Given the description of an element on the screen output the (x, y) to click on. 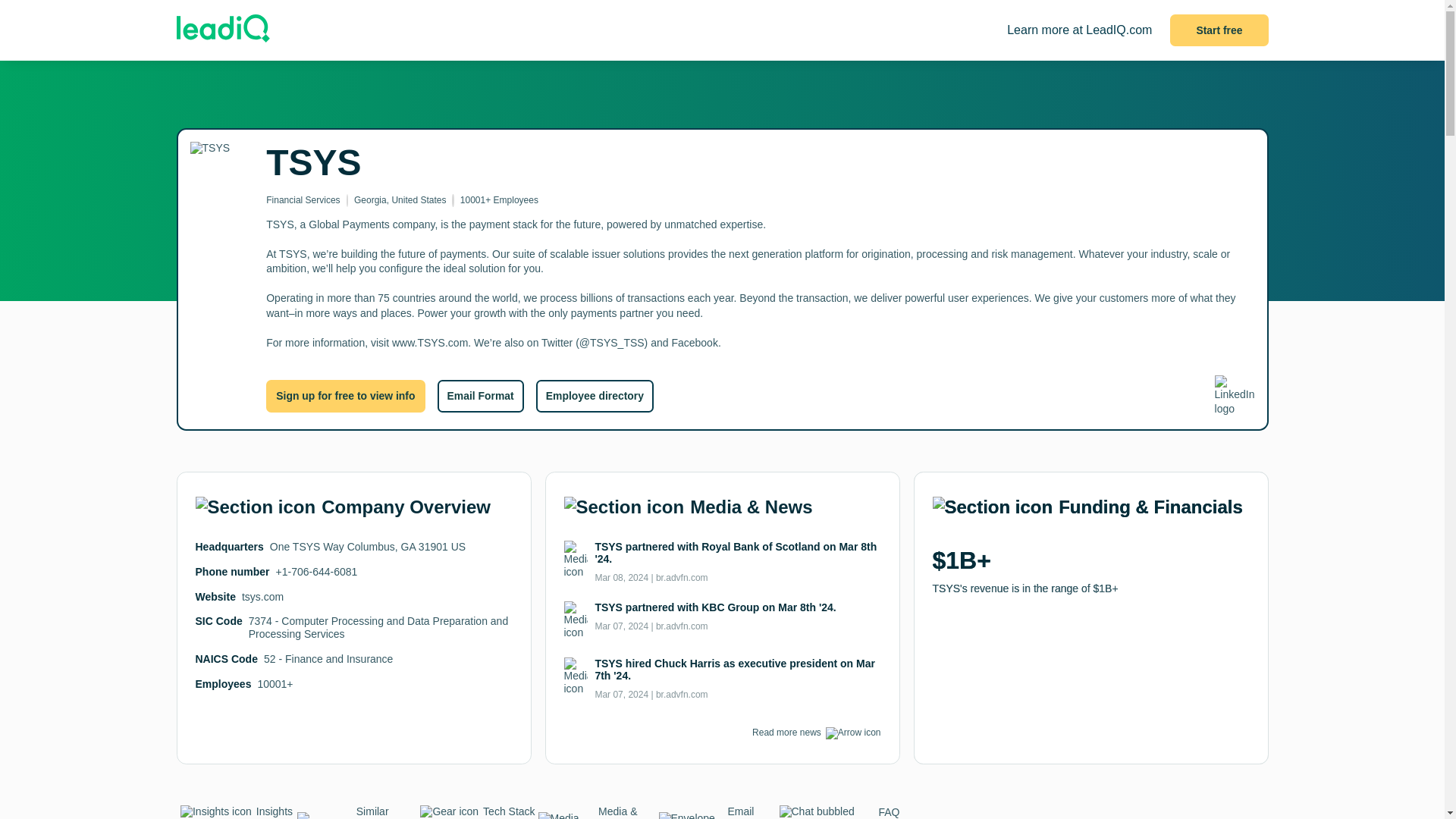
FAQ (838, 812)
Sign up for free to view info (345, 395)
Insights (236, 812)
Start free (1219, 29)
Similar companies (357, 812)
Email Format (479, 395)
Tech Stack (476, 812)
Employee directory (594, 395)
Email Format (718, 812)
Learn more at LeadIQ.com (1079, 29)
